Given the description of an element on the screen output the (x, y) to click on. 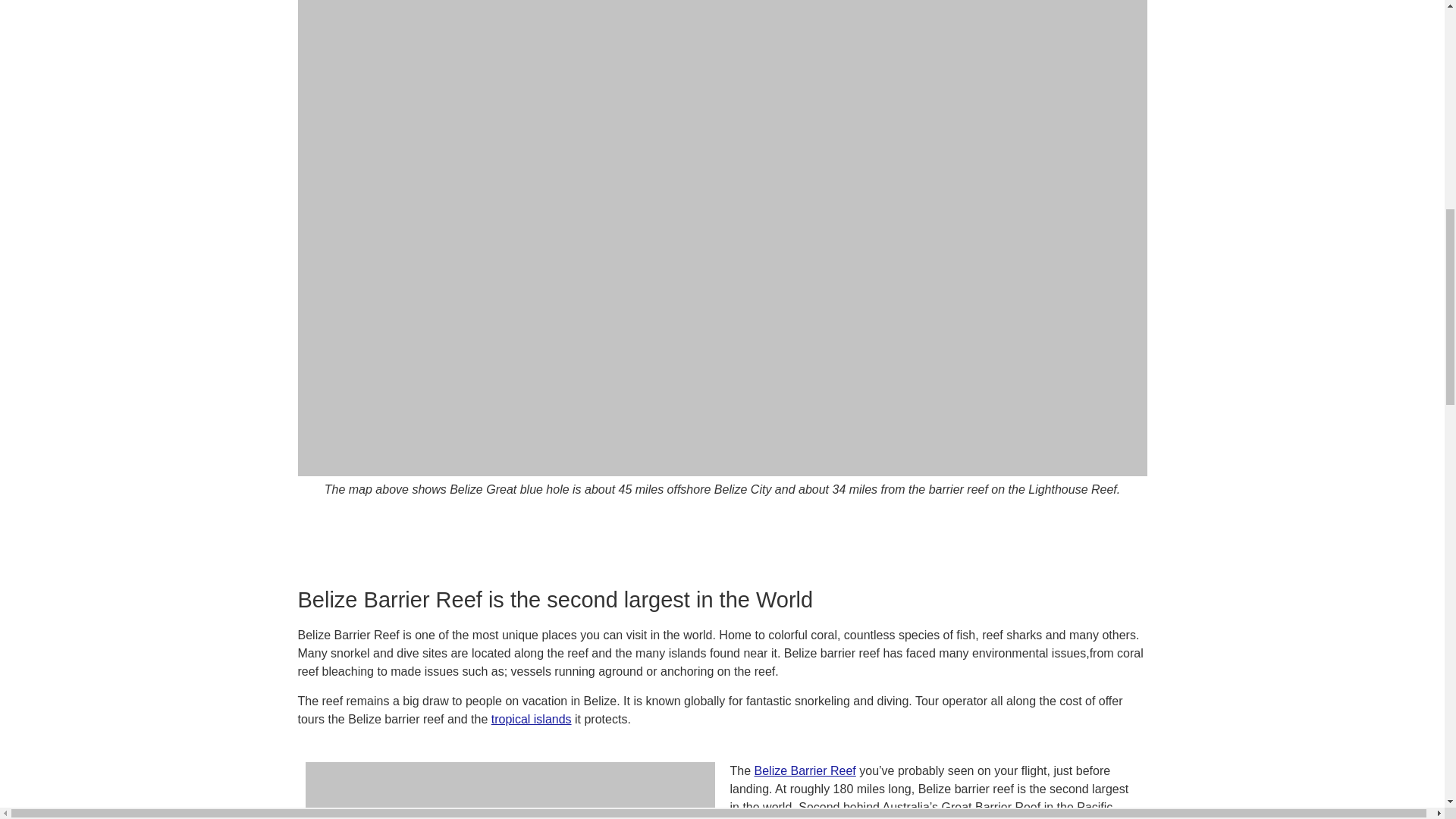
Belize Barrier Reef (805, 770)
tropical islands (532, 718)
